Given the description of an element on the screen output the (x, y) to click on. 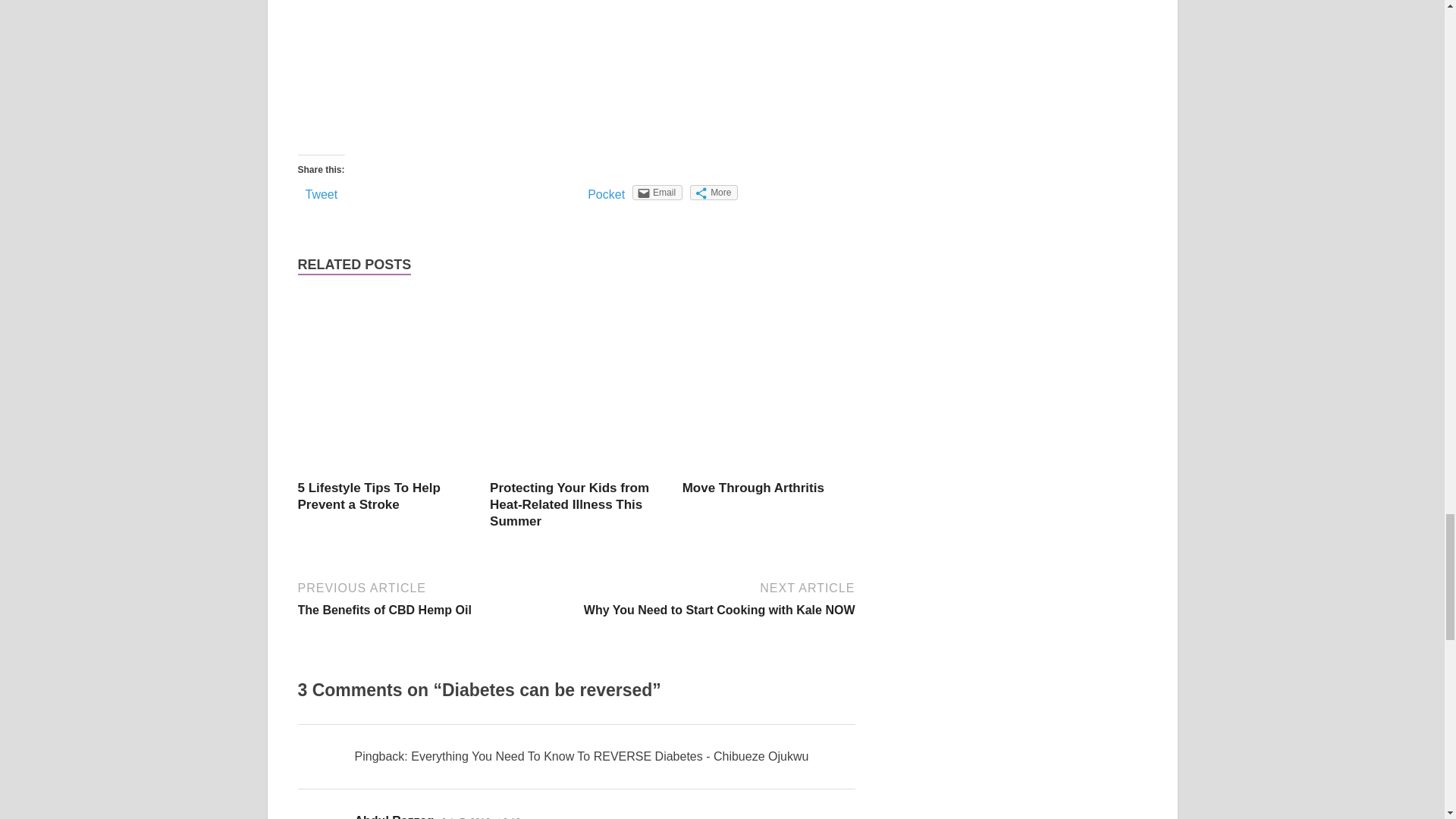
Tweet (320, 194)
Click to email a link to a friend (656, 192)
Protecting Your Kids from Heat-Related Illness This Summer (569, 504)
Protecting Your Kids from Heat-Related Illness This Summer (575, 470)
5 Lifestyle Tips To Help Prevent a Stroke (368, 495)
Move Through Arthritis (769, 470)
Pocket (606, 194)
5 Lifestyle Tips To Help Prevent a Stroke (383, 470)
Protecting Your Kids from Heat-Related Illness This Summer (569, 504)
More (714, 192)
5 Lifestyle Tips To Help Prevent a Stroke (368, 495)
Move Through Arthritis (753, 487)
Email (656, 192)
